Given the description of an element on the screen output the (x, y) to click on. 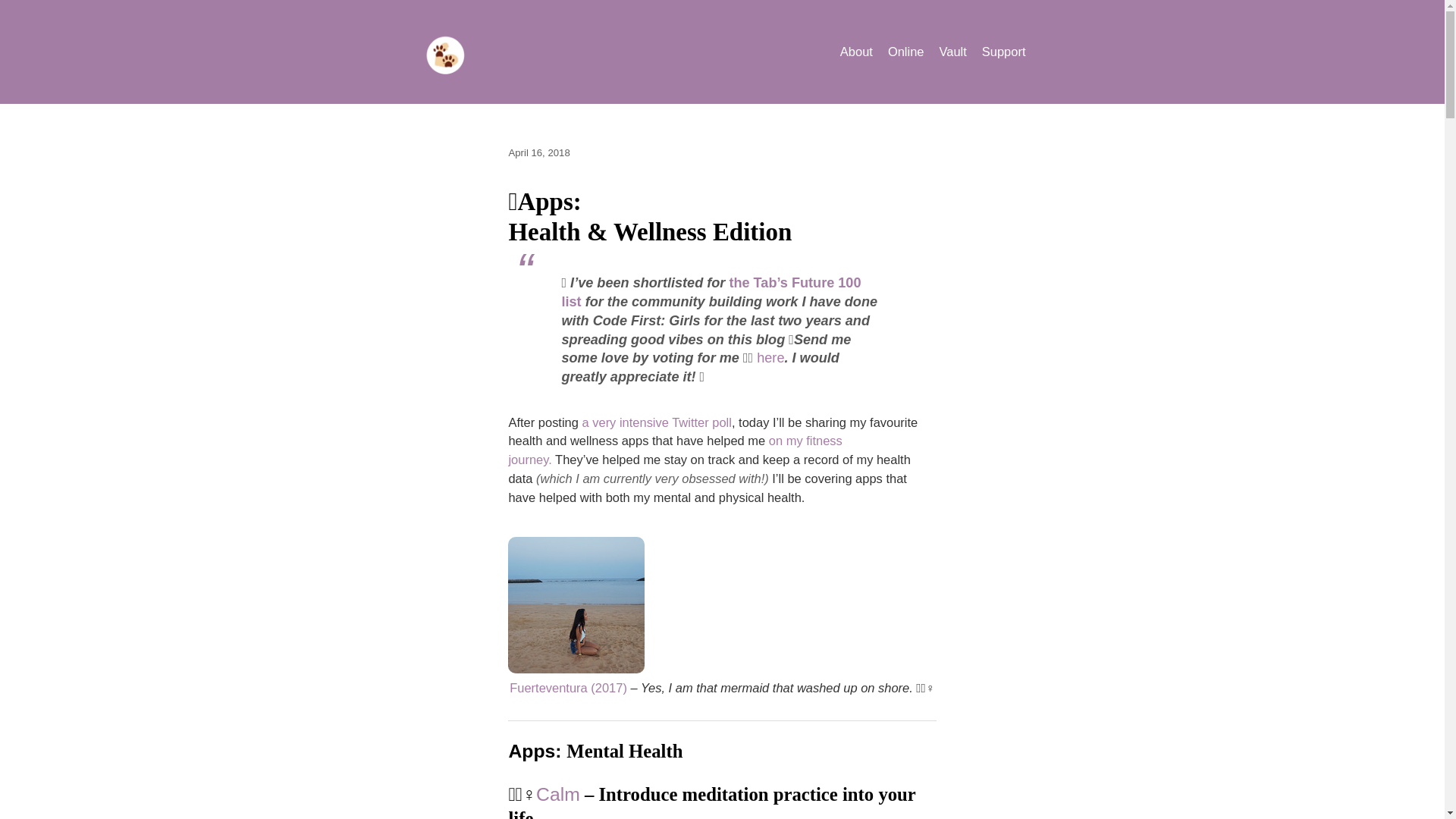
About (856, 51)
Calm (557, 793)
a very intensive Twitter poll (657, 422)
Vault (952, 51)
Support (1003, 51)
on my fitness journey. (674, 450)
Online (906, 51)
here (770, 357)
